Given the description of an element on the screen output the (x, y) to click on. 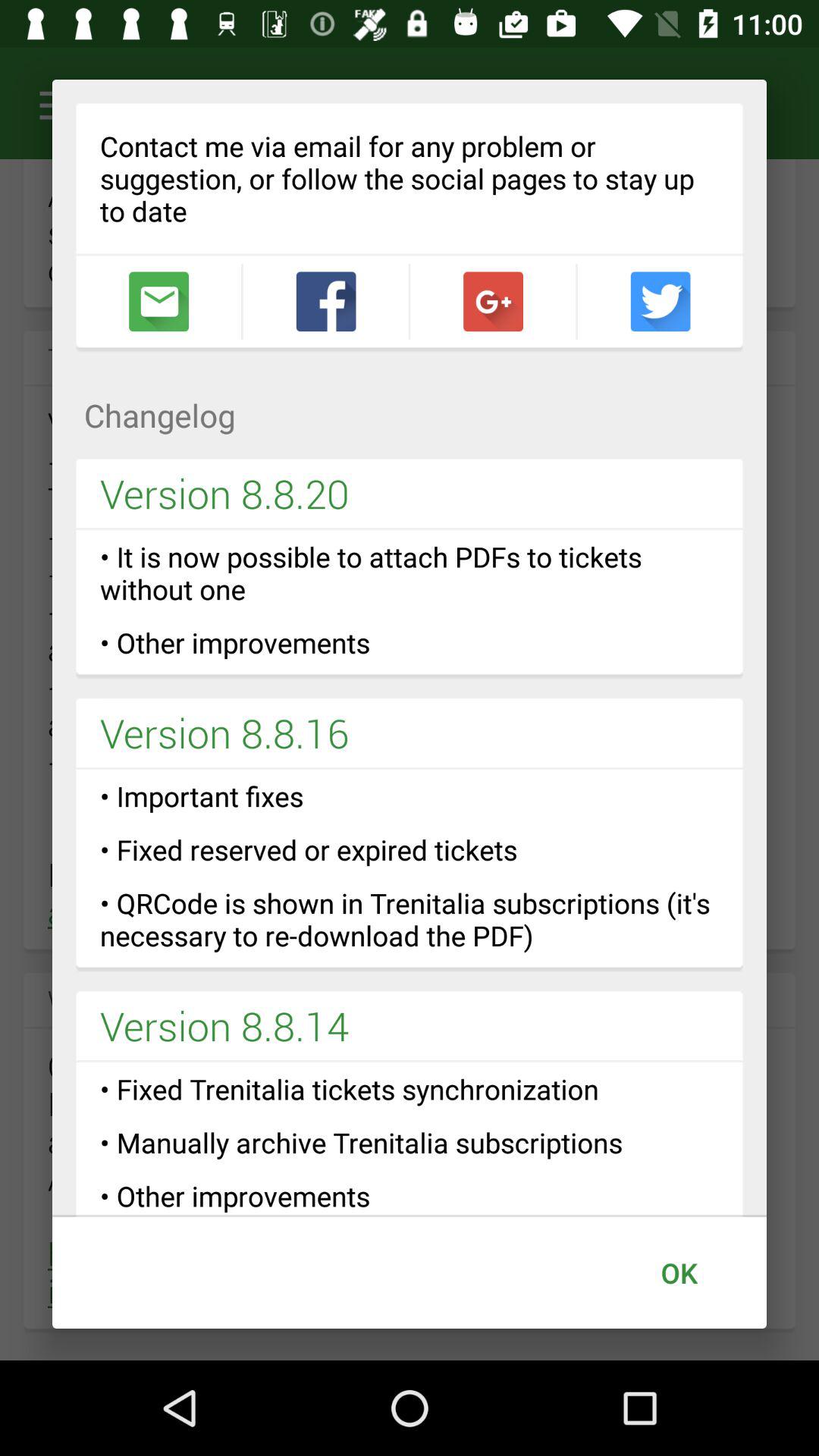
click ok icon (678, 1272)
